Given the description of an element on the screen output the (x, y) to click on. 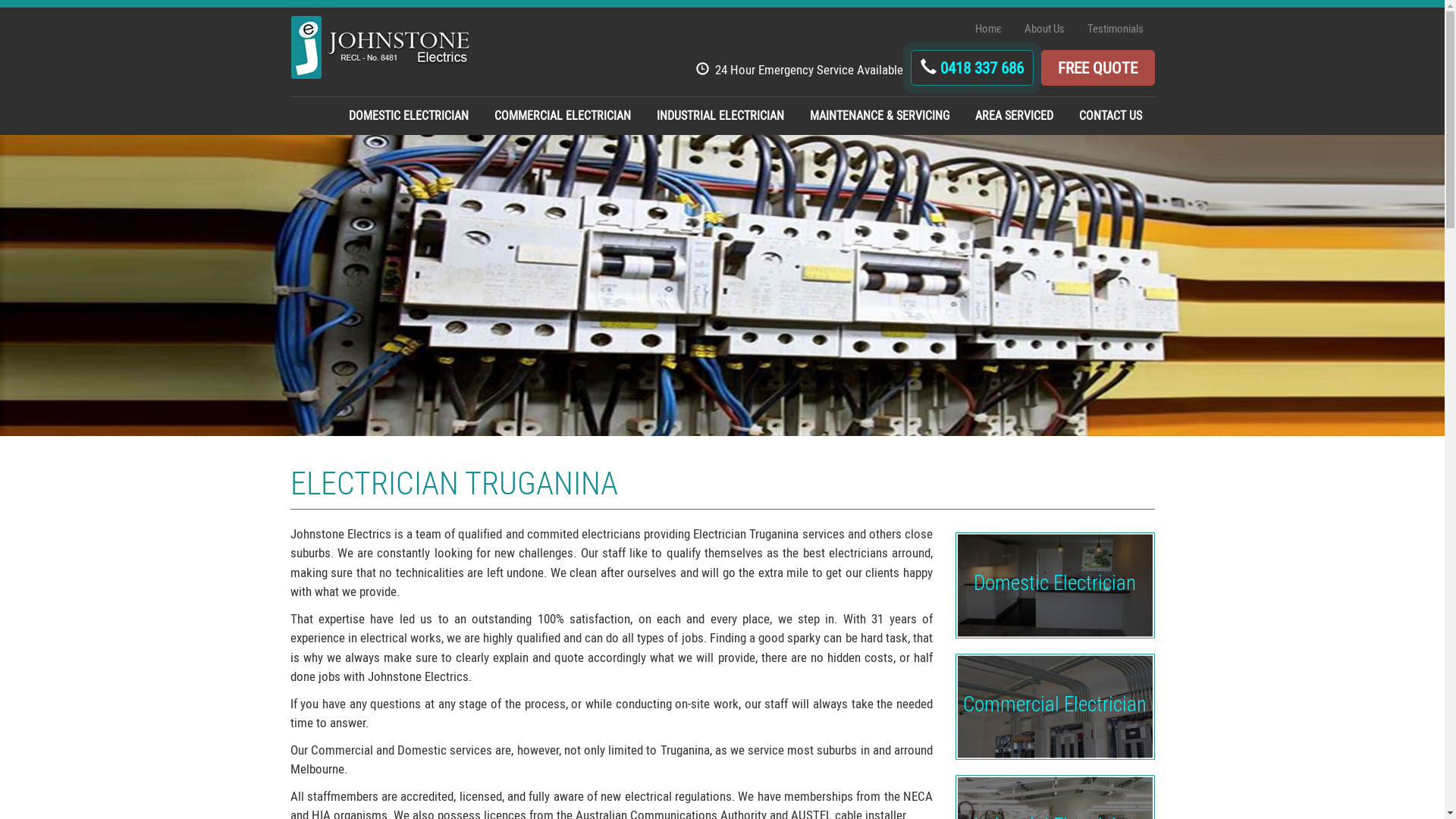
Domestic Electrician Element type: text (1054, 585)
MAINTENANCE & SERVICING Element type: text (878, 115)
Commercial Electrician Element type: text (1054, 706)
0418 337 686 Element type: text (971, 68)
COMMERCIAL ELECTRICIAN Element type: text (561, 115)
DOMESTIC ELECTRICIAN Element type: text (407, 115)
Testimonials Element type: text (1115, 28)
INDUSTRIAL ELECTRICIAN Element type: text (719, 115)
FREE QUOTE Element type: text (1097, 68)
Home Element type: text (988, 28)
About Us Element type: text (1043, 28)
CONTACT US Element type: text (1110, 115)
AREA SERVICED Element type: text (1013, 115)
